Given the description of an element on the screen output the (x, y) to click on. 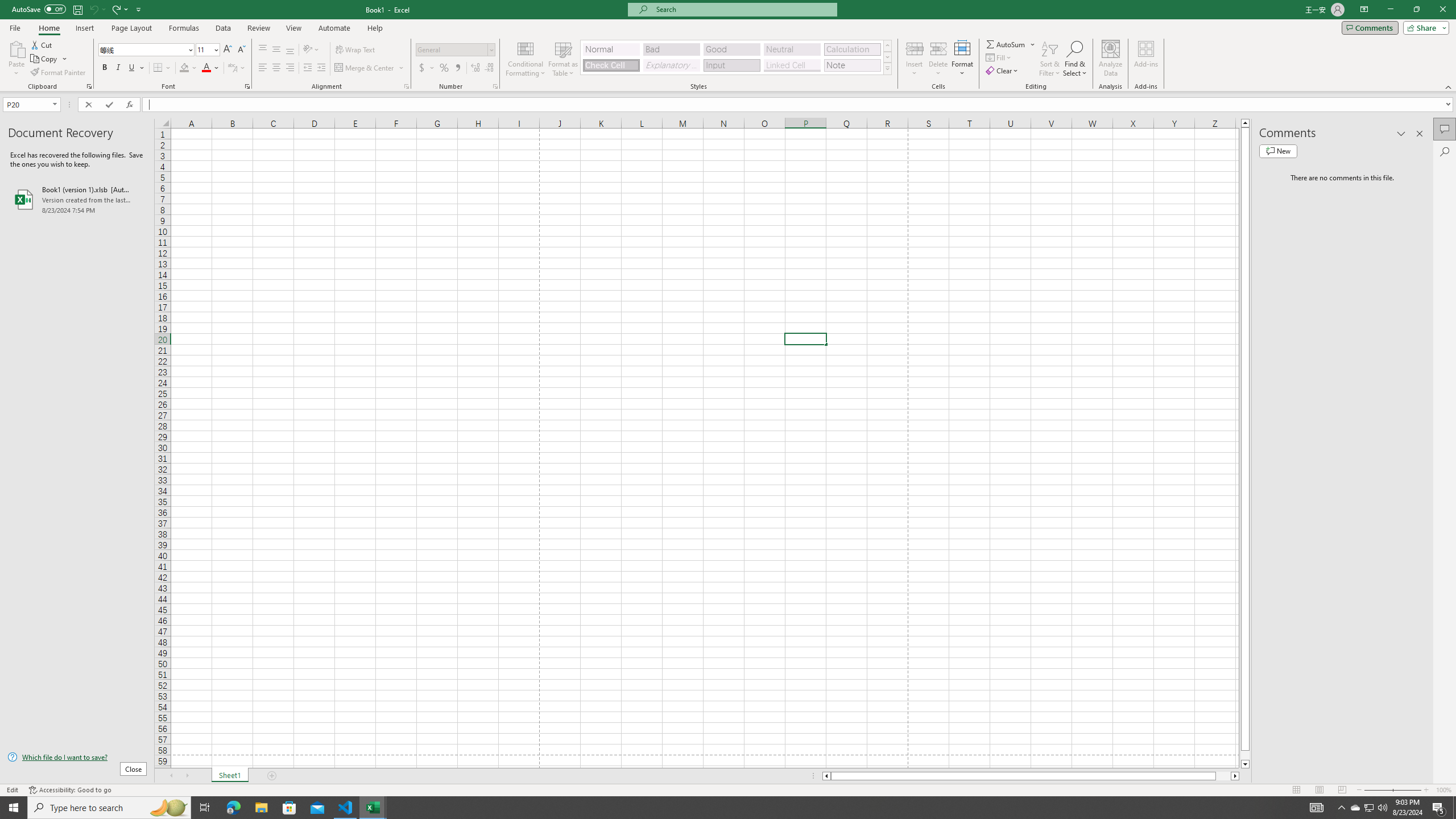
Align Right (290, 67)
Accounting Number Format (426, 67)
Add Sheet (272, 775)
Merge & Center (369, 67)
Sort & Filter (1049, 58)
Font Color (210, 67)
Open (54, 104)
AutomationID: CellStylesGallery (736, 57)
Share (1423, 27)
Increase Indent (320, 67)
Page right (1222, 775)
Page Break Preview (1342, 790)
